Given the description of an element on the screen output the (x, y) to click on. 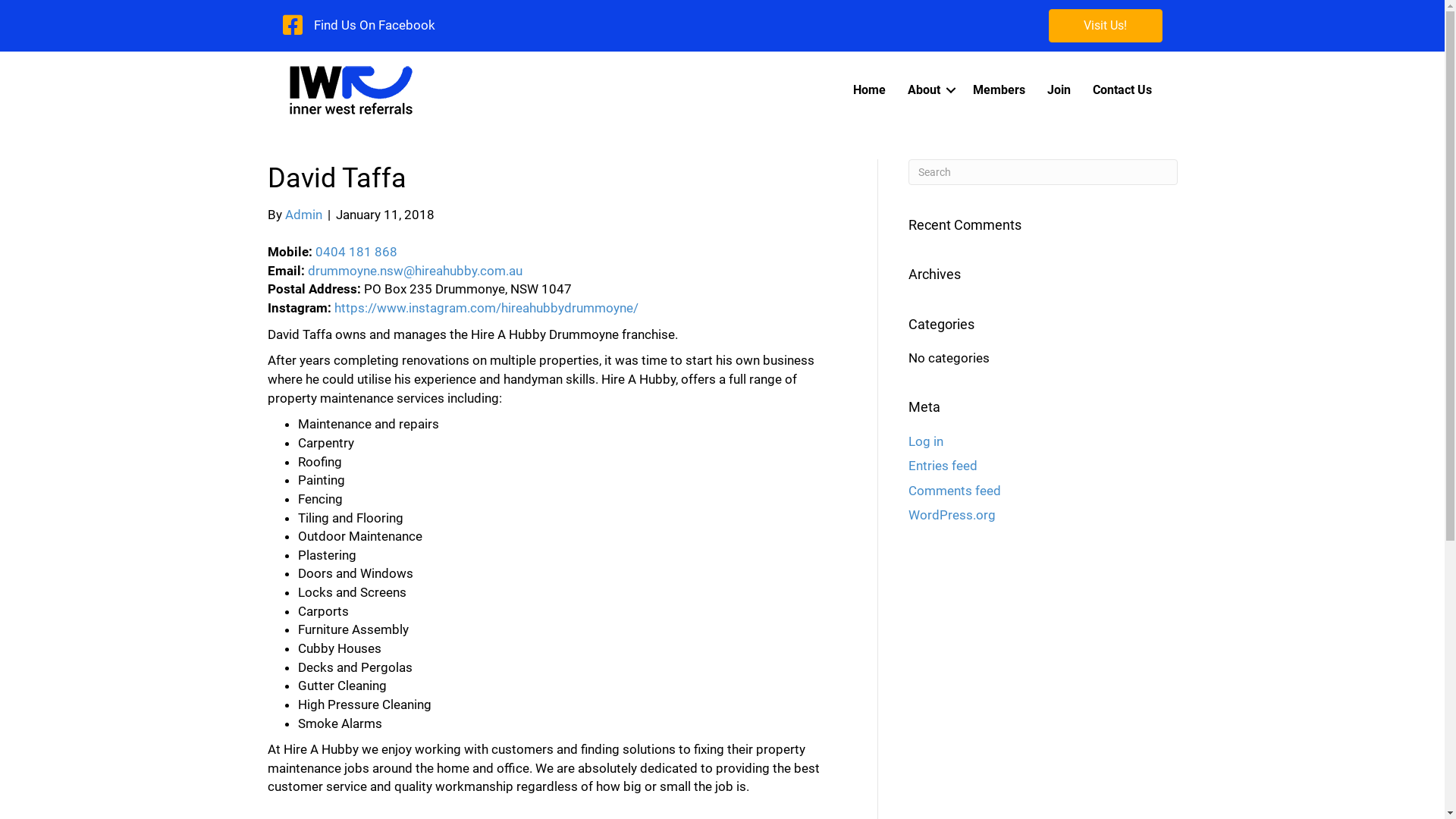
About Element type: text (928, 89)
Admin Element type: text (303, 214)
Type and press Enter to search. Element type: hover (1042, 172)
Home Element type: text (868, 89)
iwr logo Element type: hover (350, 90)
Members Element type: text (998, 89)
drummoyne.nsw@hireahubby.com.au Element type: text (414, 270)
Contact Us Element type: text (1121, 89)
Find Us On Facebook Element type: text (374, 24)
Comments feed Element type: text (954, 490)
Log in Element type: text (925, 440)
Visit Us! Element type: text (1104, 25)
WordPress.org Element type: text (951, 514)
Entries feed Element type: text (942, 465)
https://www.instagram.com/hireahubbydrummoyne/ Element type: text (485, 307)
Join Element type: text (1057, 89)
0404 181 868 Element type: text (356, 251)
